Given the description of an element on the screen output the (x, y) to click on. 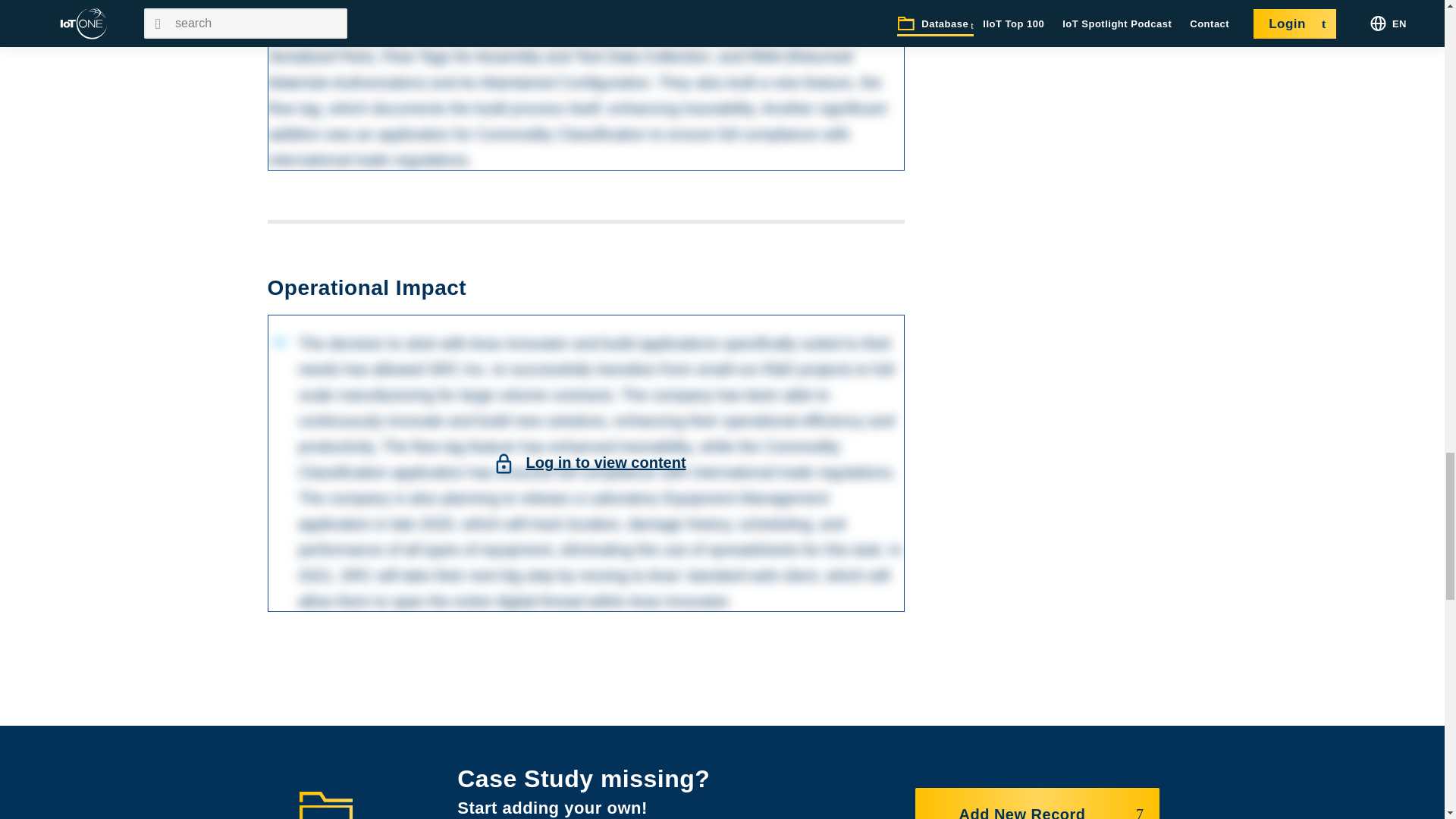
Log in to view content (605, 462)
Log in to view content (605, 21)
